Given the description of an element on the screen output the (x, y) to click on. 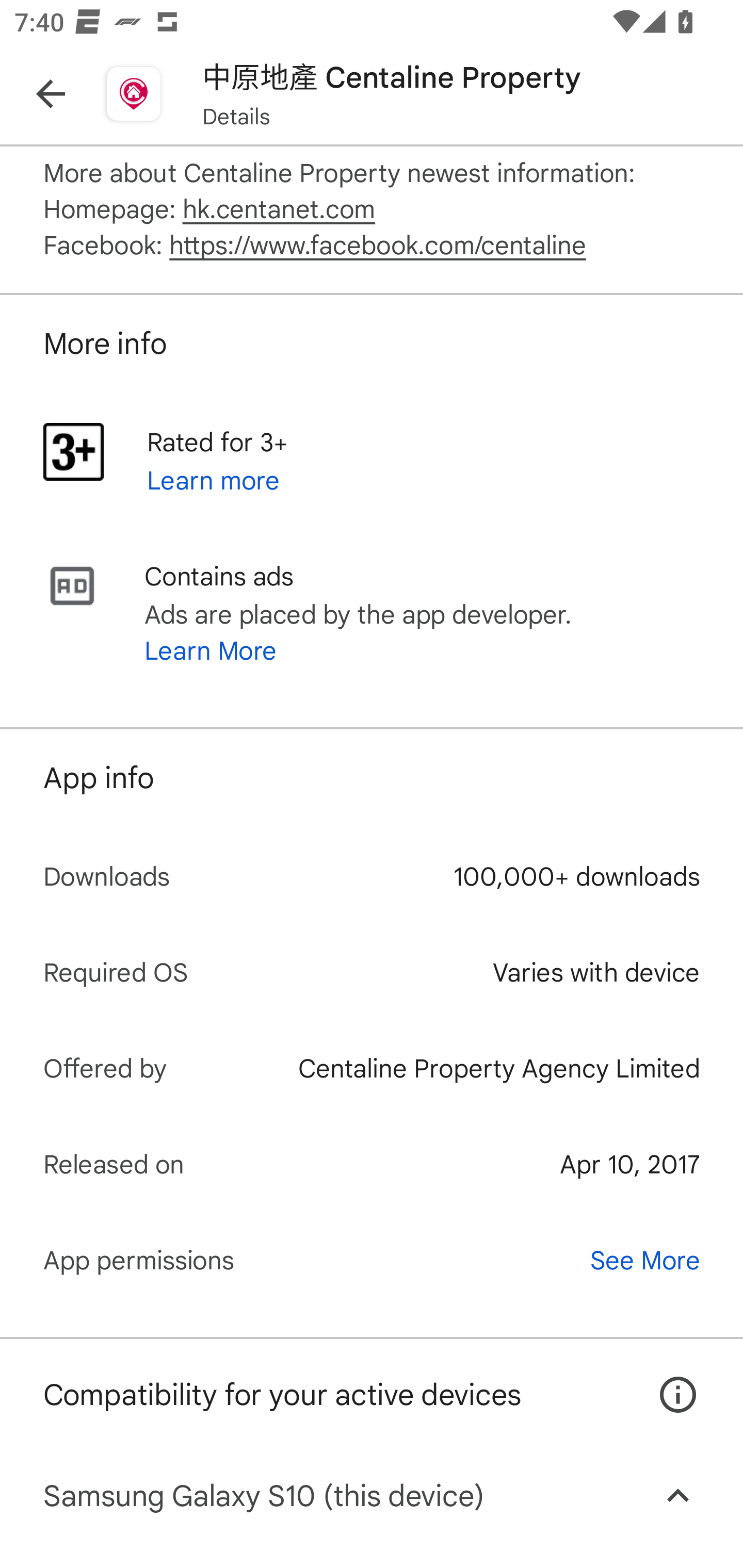
Navigate up (50, 93)
App permissions See More (371, 1259)
How this App works on your devices. (666, 1380)
Samsung Galaxy S10 (this device) Collapse (371, 1495)
Collapse (677, 1495)
